Given the description of an element on the screen output the (x, y) to click on. 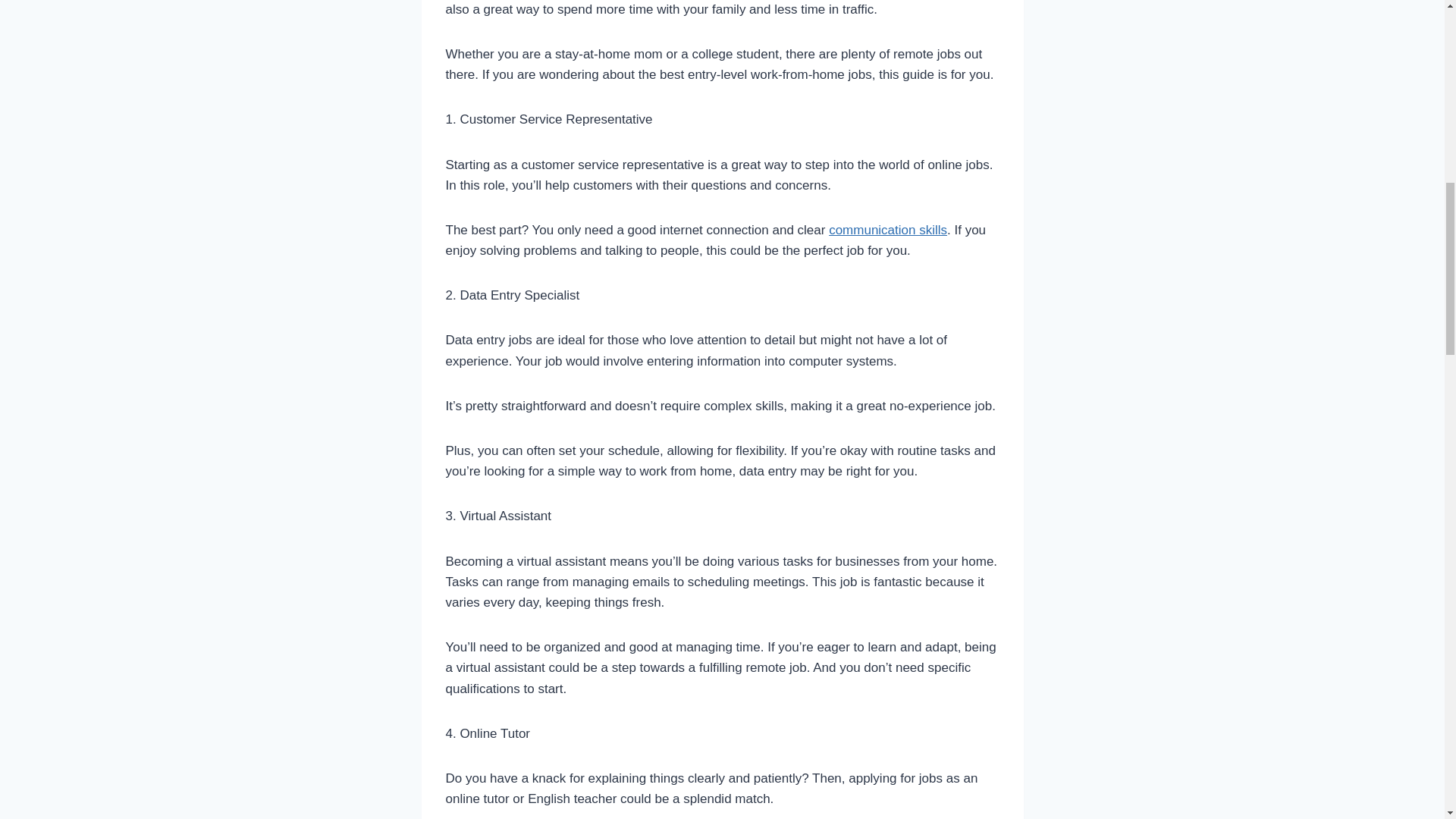
communication skills (887, 229)
